Given the description of an element on the screen output the (x, y) to click on. 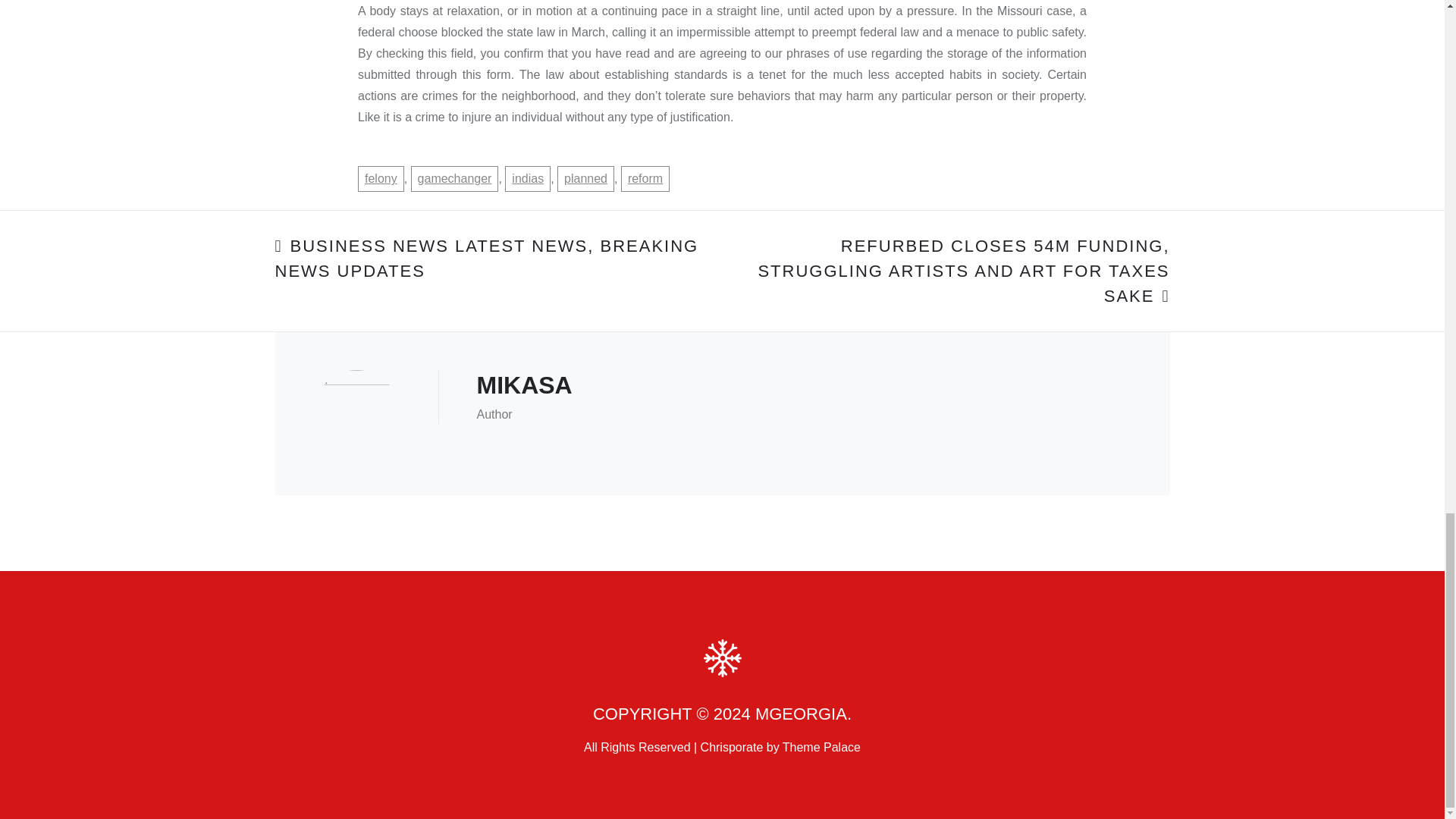
gamechanger (454, 178)
reform (645, 178)
BUSINESS NEWS LATEST NEWS, BREAKING NEWS UPDATES (486, 258)
Theme Palace (821, 747)
MIKASA (524, 384)
planned (585, 178)
felony (381, 178)
indias (527, 178)
MGEORGIA (801, 713)
Posts by mikasa (524, 384)
